Given the description of an element on the screen output the (x, y) to click on. 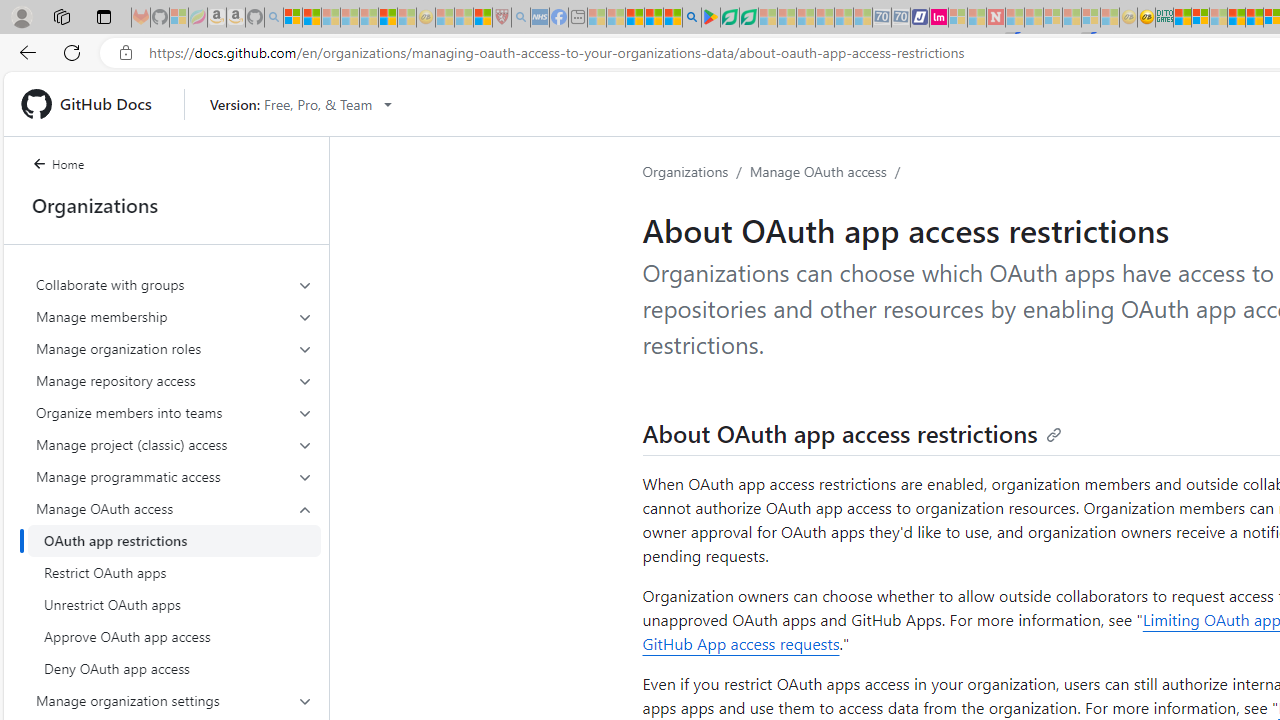
Manage OAuth access (817, 171)
Manage organization settings (174, 700)
Manage OAuth access (174, 508)
Organize members into teams (174, 412)
Manage organization settings (174, 700)
Unrestrict OAuth apps (174, 604)
GitHub Docs (93, 103)
Bluey: Let's Play! - Apps on Google Play (710, 17)
